Given the description of an element on the screen output the (x, y) to click on. 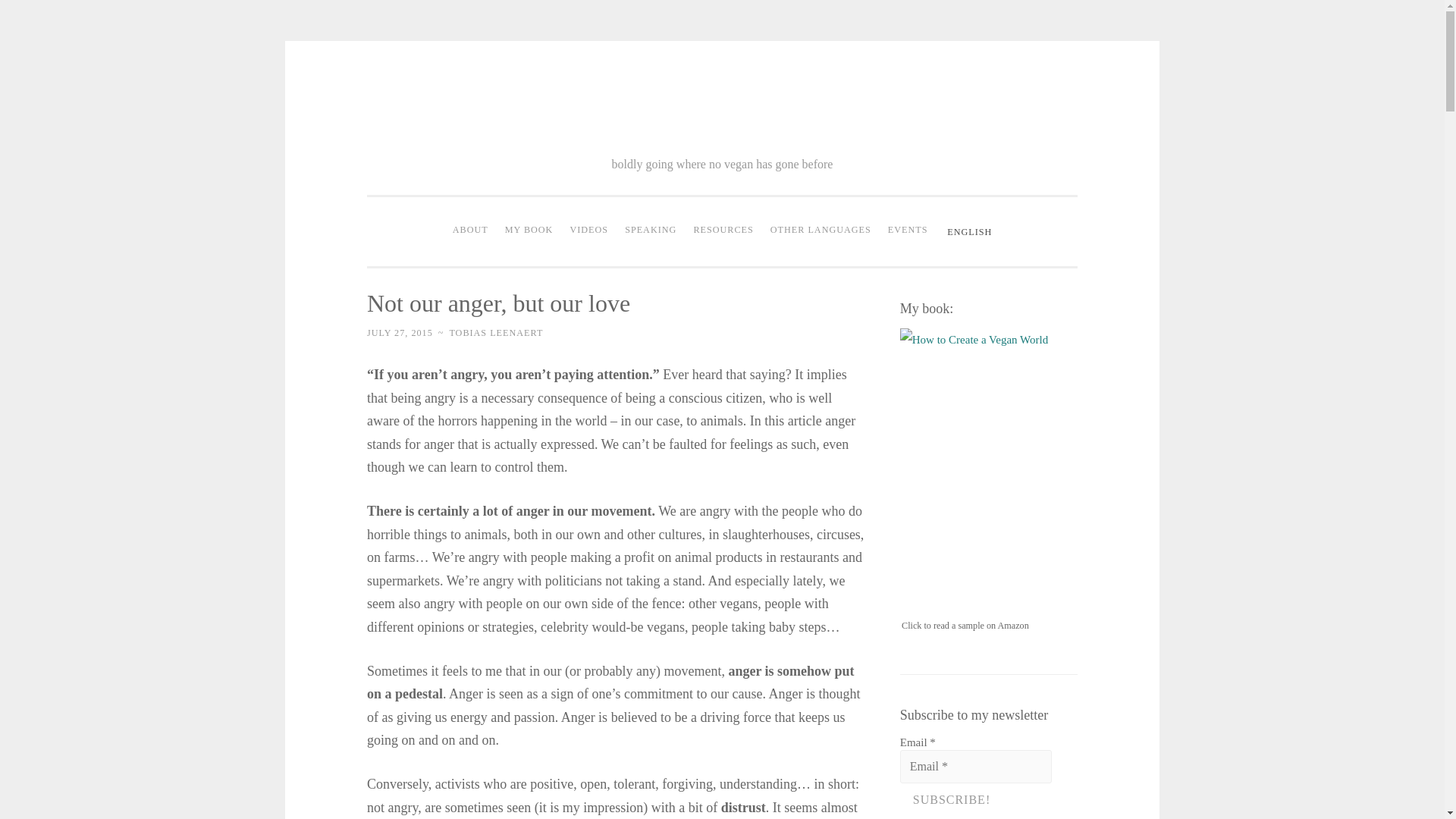
English (967, 232)
SPEAKING (649, 230)
VIDEOS (588, 230)
ENGLISH (967, 232)
RESOURCES (722, 230)
ABOUT (470, 230)
EVENTS (907, 230)
OTHER LANGUAGES (819, 230)
Email (975, 766)
